Given the description of an element on the screen output the (x, y) to click on. 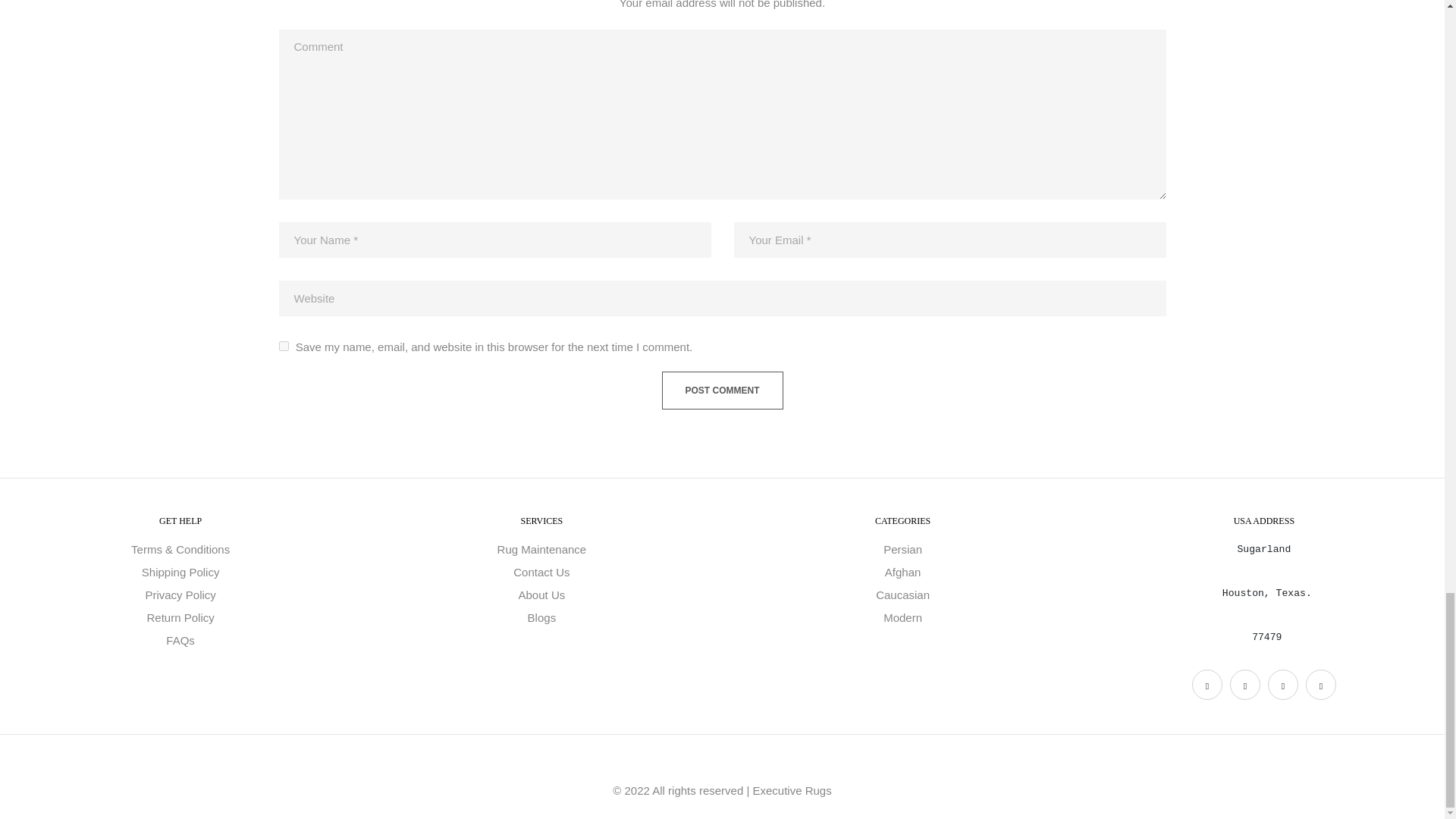
Post Comment (722, 390)
Post Comment (722, 390)
yes (283, 346)
